Given the description of an element on the screen output the (x, y) to click on. 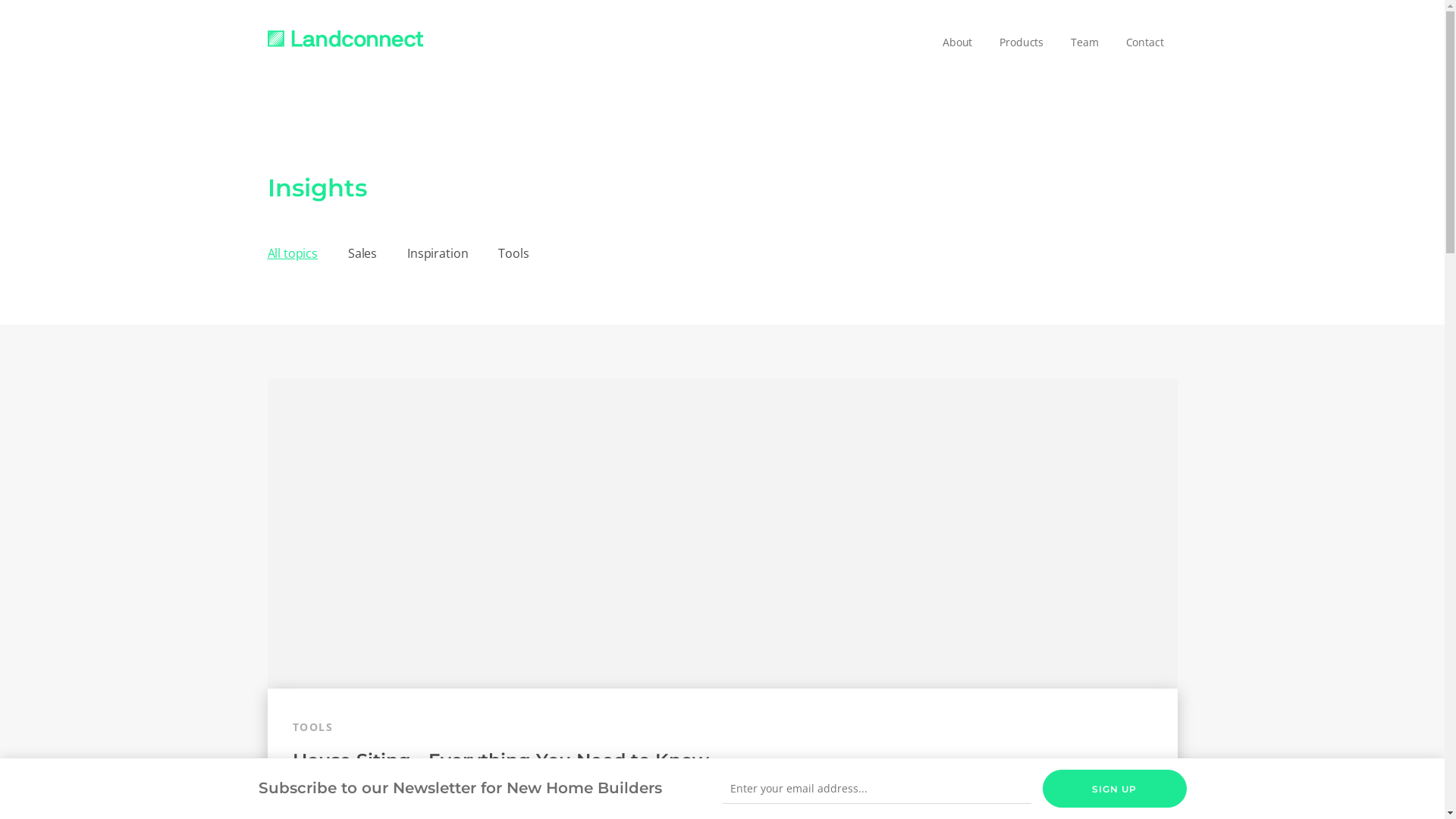
Team Element type: text (1084, 42)
Contact Element type: text (1144, 42)
Products Element type: text (1021, 42)
Tools Element type: text (513, 252)
About Element type: text (956, 42)
All topics Element type: text (291, 252)
Inspiration Element type: text (437, 252)
SIGN UP Element type: text (1113, 788)
Sales Element type: text (362, 252)
